Given the description of an element on the screen output the (x, y) to click on. 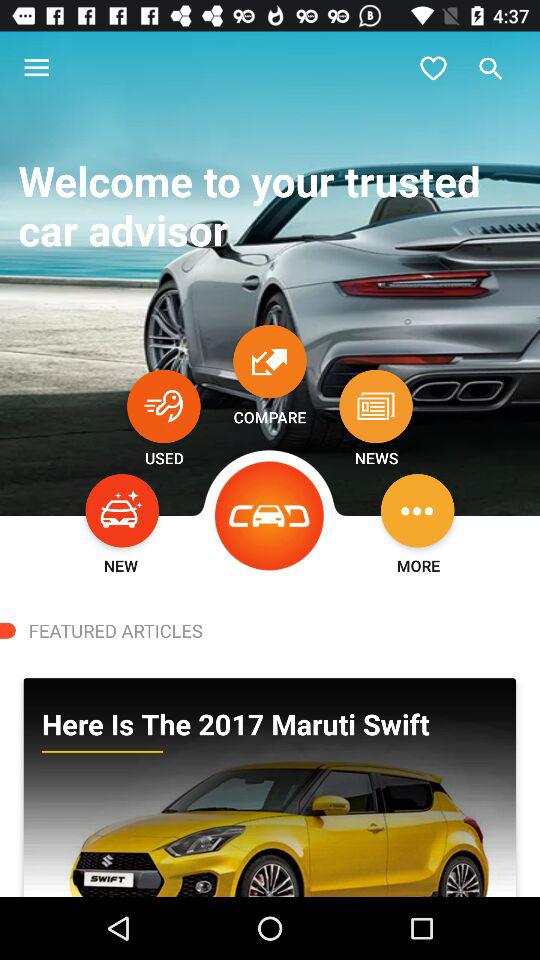
see used cars (163, 406)
